Given the description of an element on the screen output the (x, y) to click on. 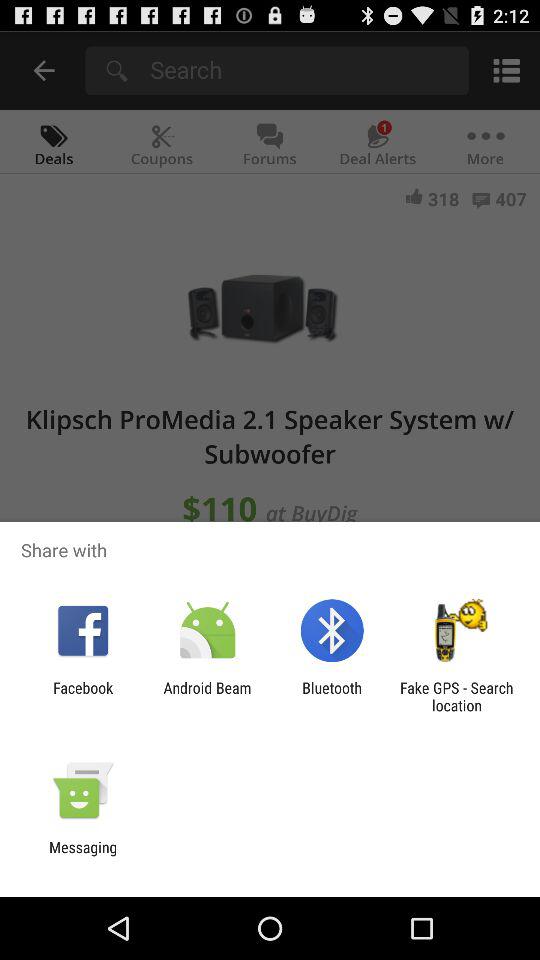
click app next to android beam icon (83, 696)
